Given the description of an element on the screen output the (x, y) to click on. 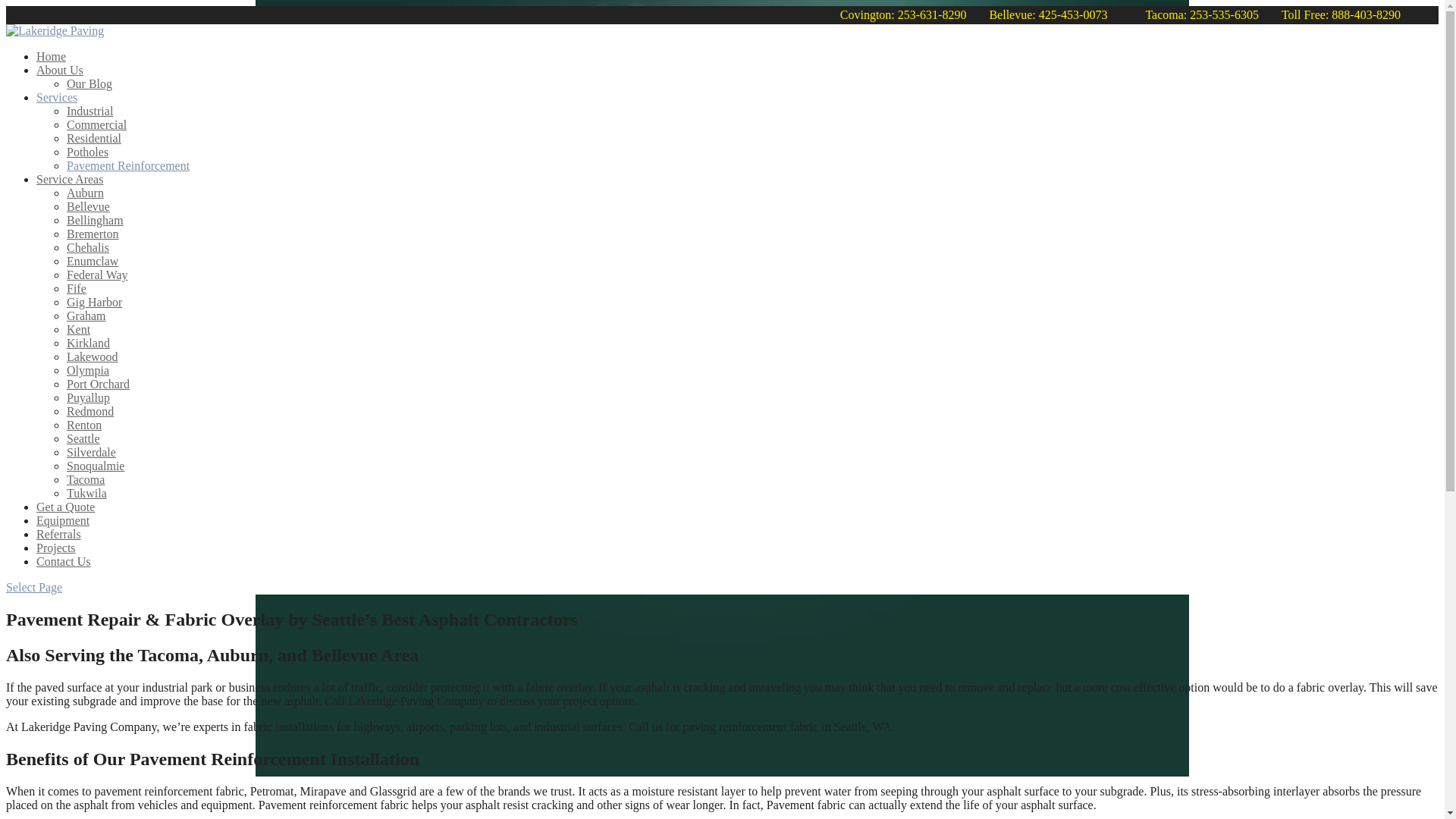
Chehalis (87, 246)
Commercial (96, 124)
Contact Us (63, 561)
Bremerton (91, 233)
Resurface Your Asphalt Driveway in Bellevue, WA (93, 137)
Asphalt Paving in Olympia, WA (87, 369)
Projects (55, 547)
Asphalt Paving in Bellevue, WA (88, 205)
Silverdale (91, 451)
Asphalt Company near Auburn, WA (84, 192)
Auburn (84, 192)
Bellingham (94, 219)
About Us (59, 69)
Redmond (89, 410)
